Given the description of an element on the screen output the (x, y) to click on. 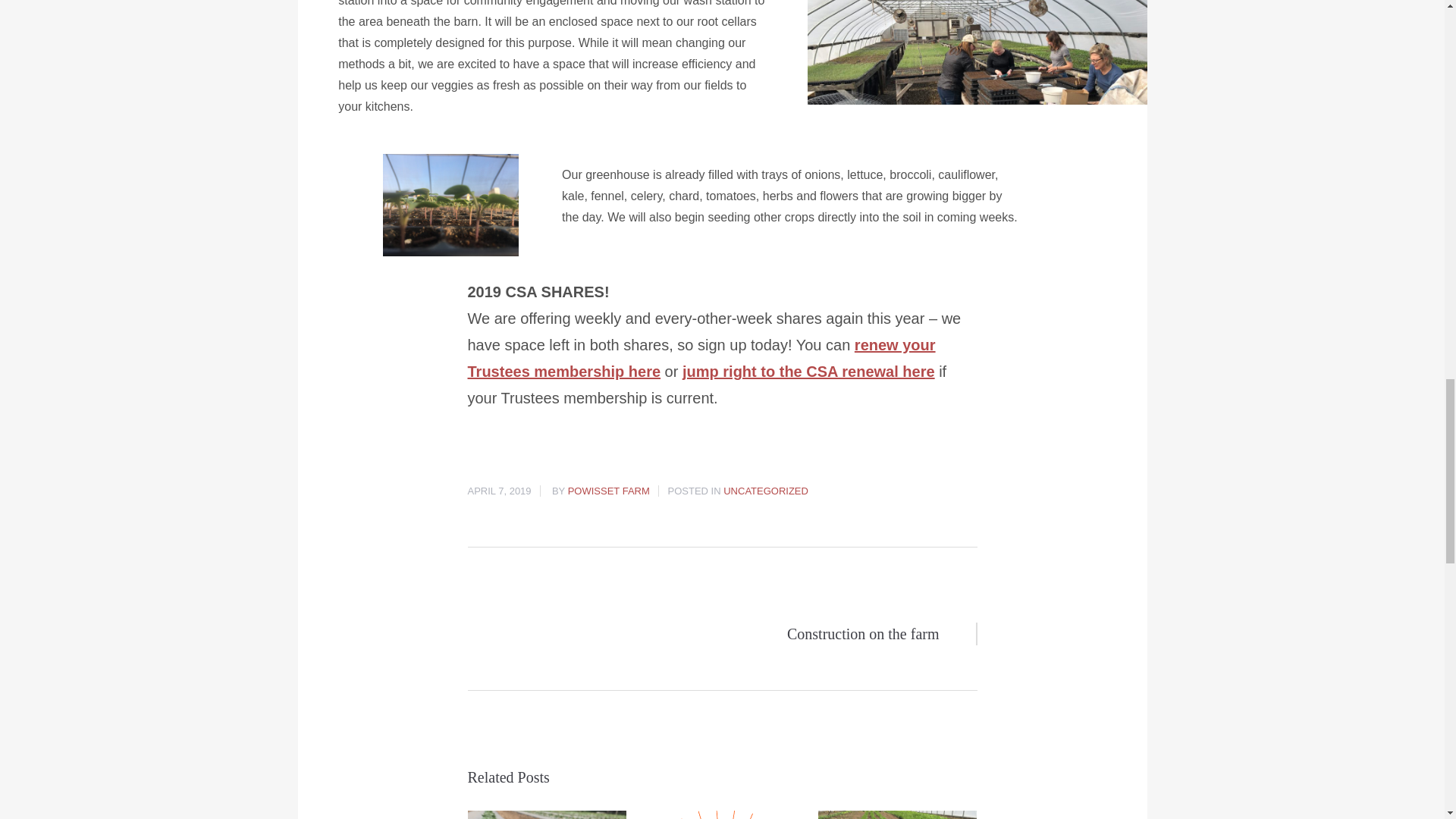
Construction on the farm (703, 633)
renew your Trustees membership here (700, 358)
POWISSET FARM (608, 490)
jump right to the CSA renewal here (808, 371)
UNCATEGORIZED (765, 490)
